Given the description of an element on the screen output the (x, y) to click on. 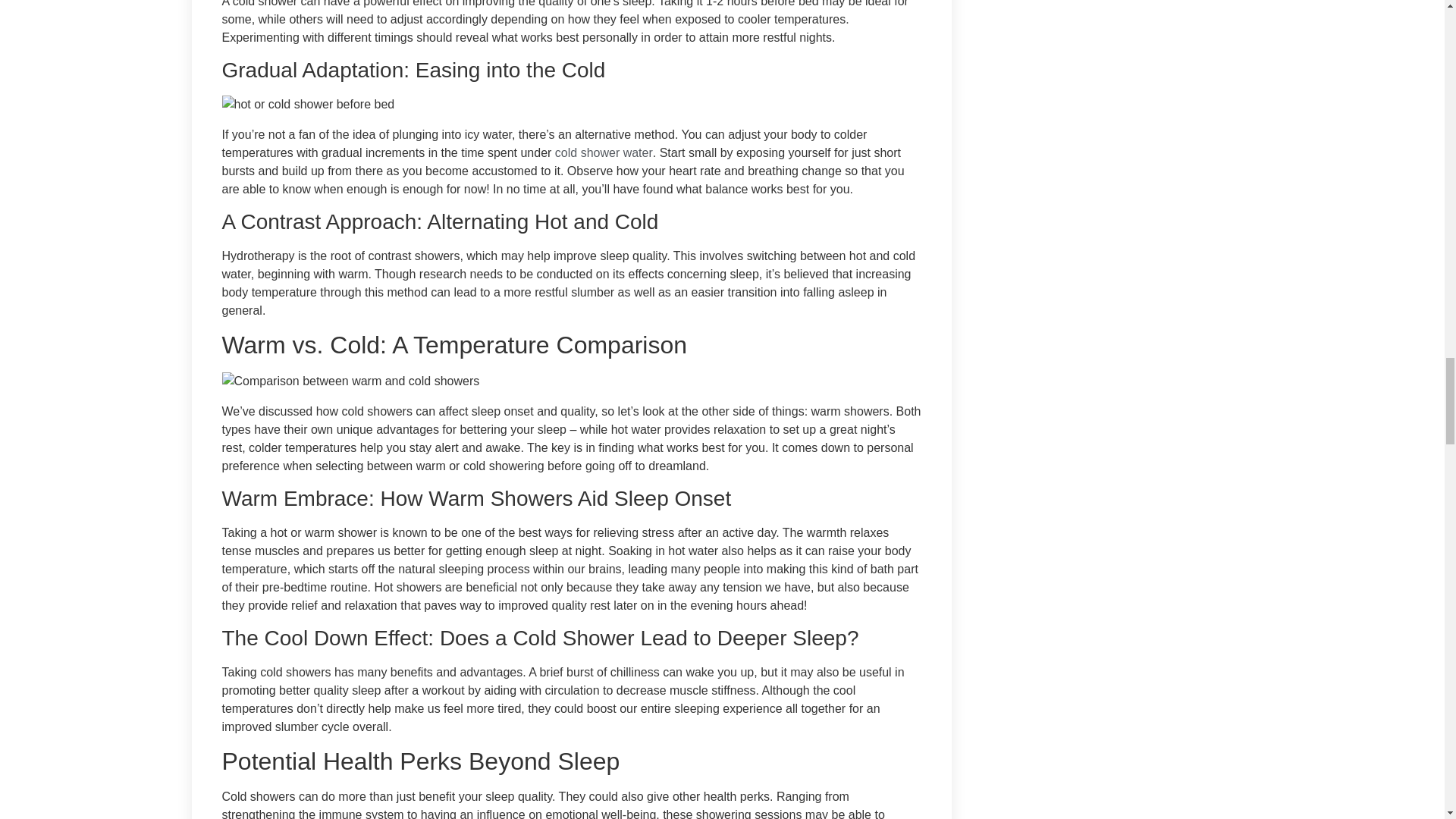
cold shower water (603, 152)
